Given the description of an element on the screen output the (x, y) to click on. 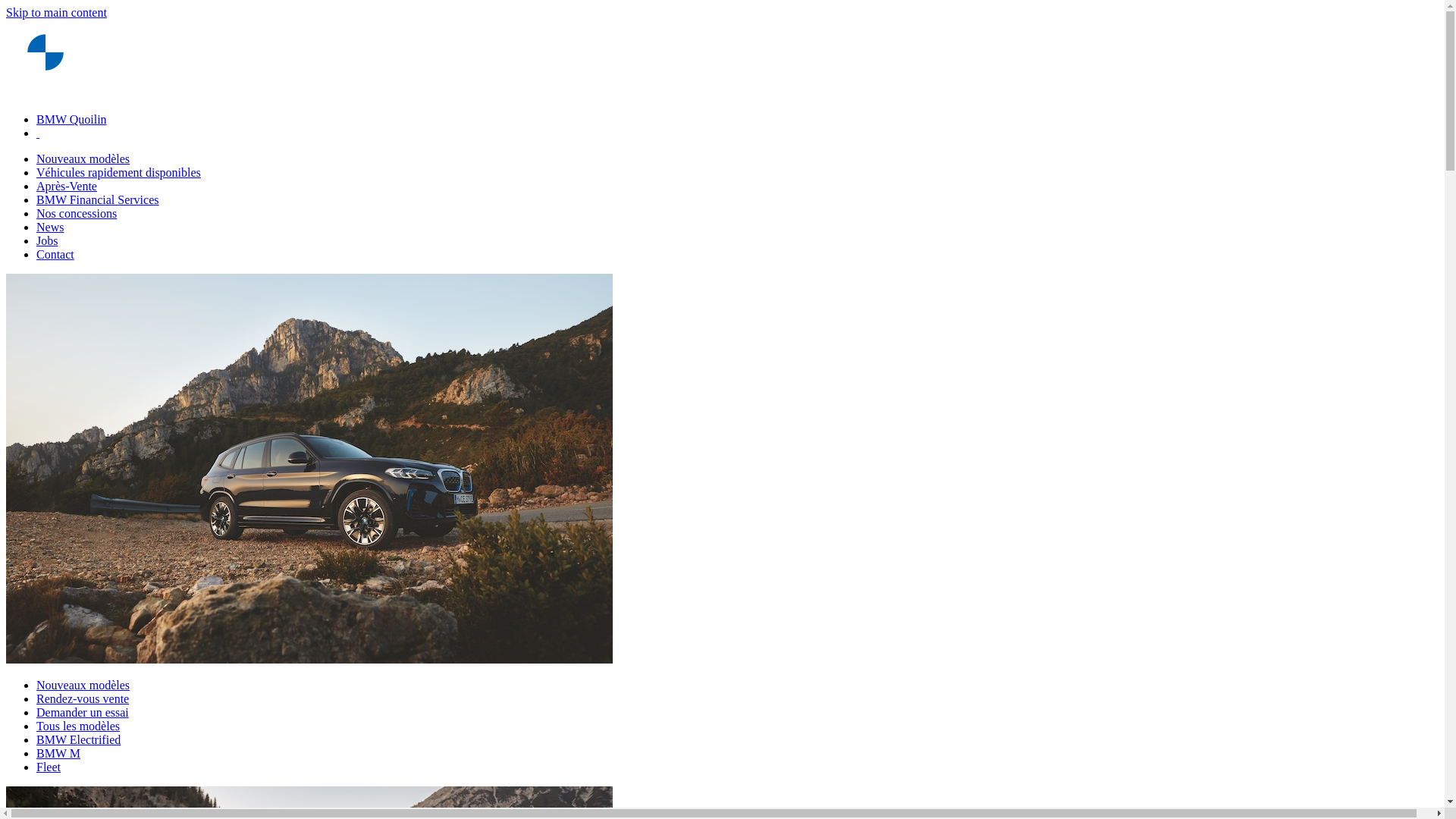
Fleet Element type: text (48, 766)
Nos concessions Element type: text (76, 213)
BMW Quoilin Element type: text (71, 118)
BMW Financial Services Element type: text (97, 199)
Skip to main content Element type: text (56, 12)
Jobs Element type: text (46, 240)
  Element type: text (37, 132)
BMW M Element type: text (58, 752)
BMW Electrified Element type: text (78, 739)
News Element type: text (49, 226)
Demander un essai Element type: text (82, 712)
Rendez-vous vente Element type: text (82, 698)
Home Element type: hover (45, 93)
Contact Element type: text (55, 253)
